Given the description of an element on the screen output the (x, y) to click on. 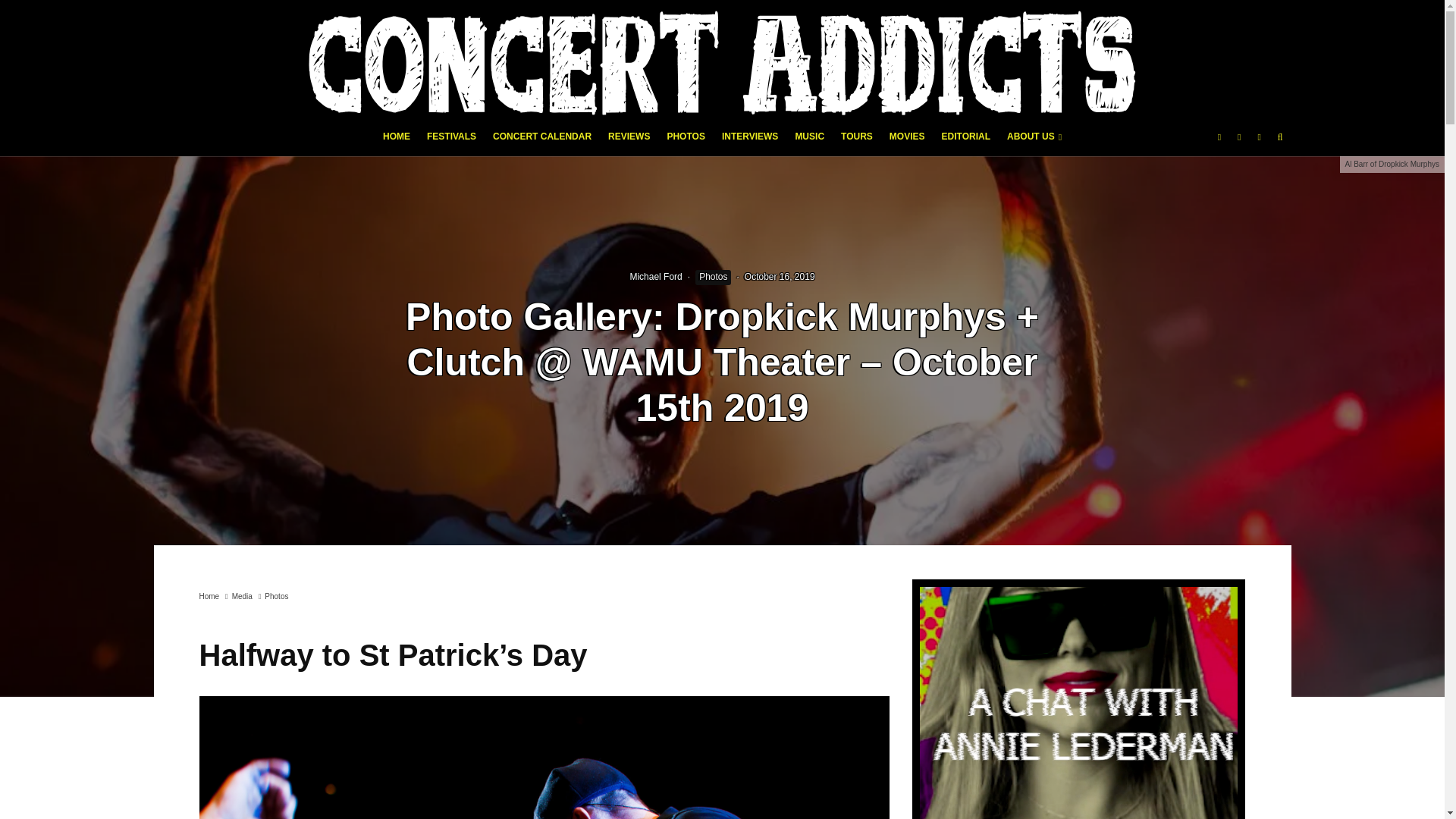
INTERVIEWS (749, 141)
REVIEWS (628, 141)
FESTIVALS (451, 141)
PHOTOS (685, 141)
HOME (396, 141)
CONCERT CALENDAR (541, 141)
